Given the description of an element on the screen output the (x, y) to click on. 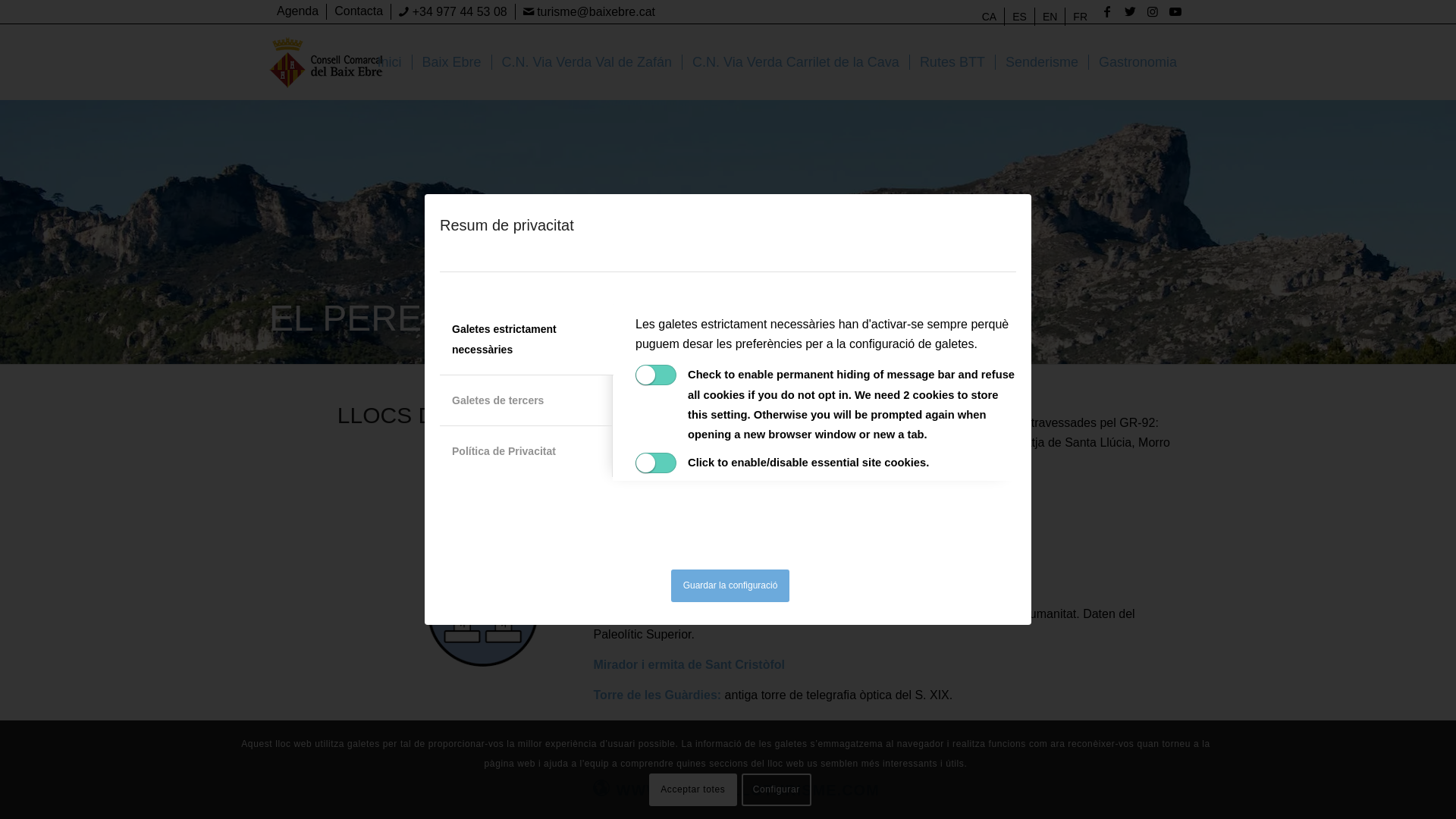
Youtube Element type: hover (1175, 11)
Facebook Element type: hover (1106, 11)
Baix Ebre Element type: text (451, 62)
ES Element type: text (1019, 16)
www.elperelloturisme.com Element type: hover (600, 787)
CA Element type: text (989, 16)
turisme@baixebre.cat Element type: text (588, 11)
Twitter Element type: hover (1129, 11)
FR Element type: text (1080, 16)
logo-turisme-ccbe Element type: hover (325, 62)
Senderisme Element type: text (1041, 62)
Agenda Element type: text (297, 10)
C.N. Via Verda Carrilet de la Cava Element type: text (795, 62)
perello Element type: hover (482, 552)
Acceptar totes Element type: text (692, 789)
Configurar Element type: text (776, 789)
EN Element type: text (1049, 16)
Instagram Element type: hover (1152, 11)
Gastronomia Element type: text (1137, 62)
Rutes BTT Element type: text (951, 62)
+34 977 44 53 08 Element type: text (452, 11)
Inici Element type: text (389, 62)
Contacta Element type: text (358, 10)
WWW.ELPERELLOTURISME.COM Element type: text (747, 789)
